Given the description of an element on the screen output the (x, y) to click on. 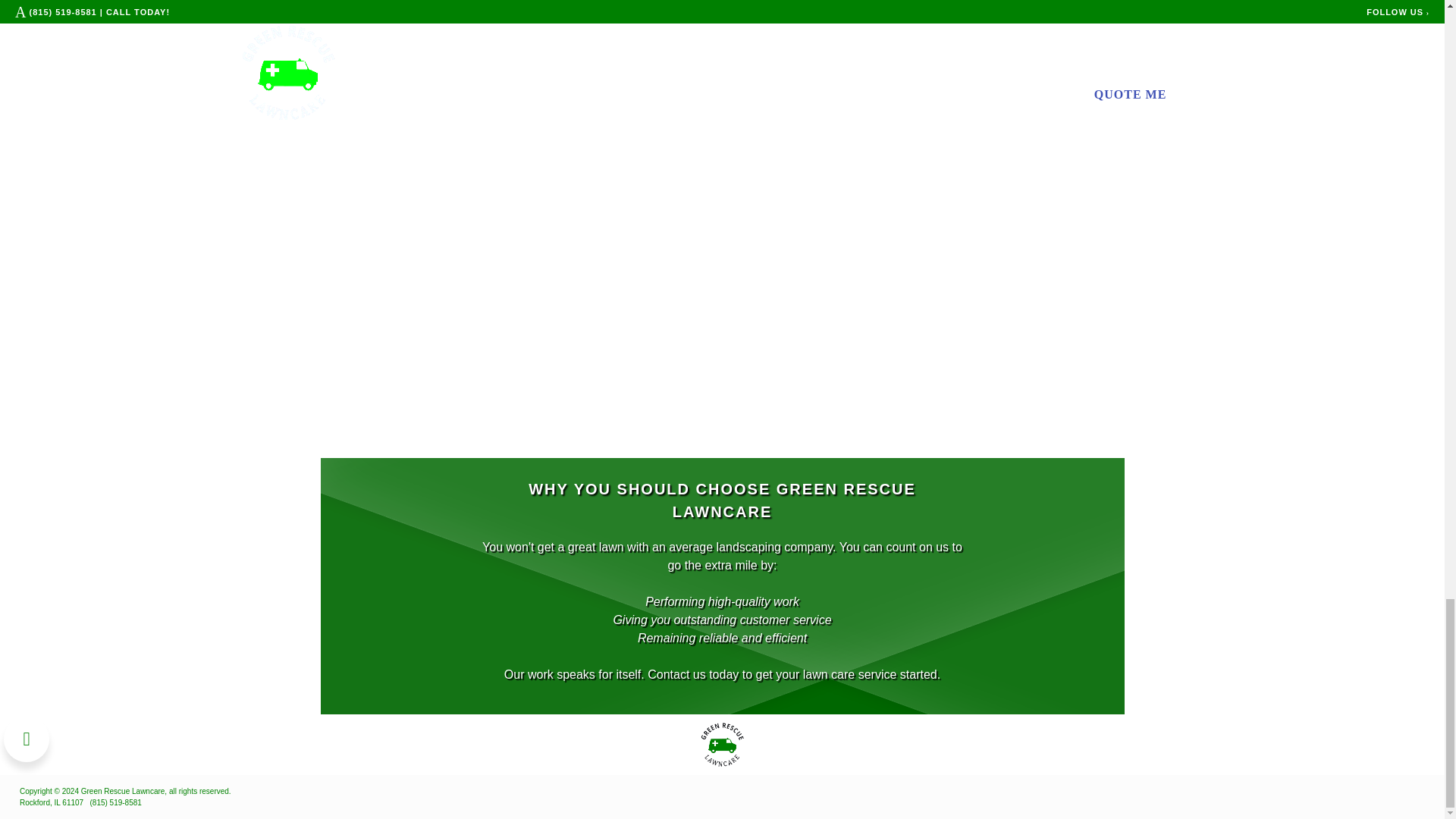
Green Rescue Lawncare (722, 744)
